Given the description of an element on the screen output the (x, y) to click on. 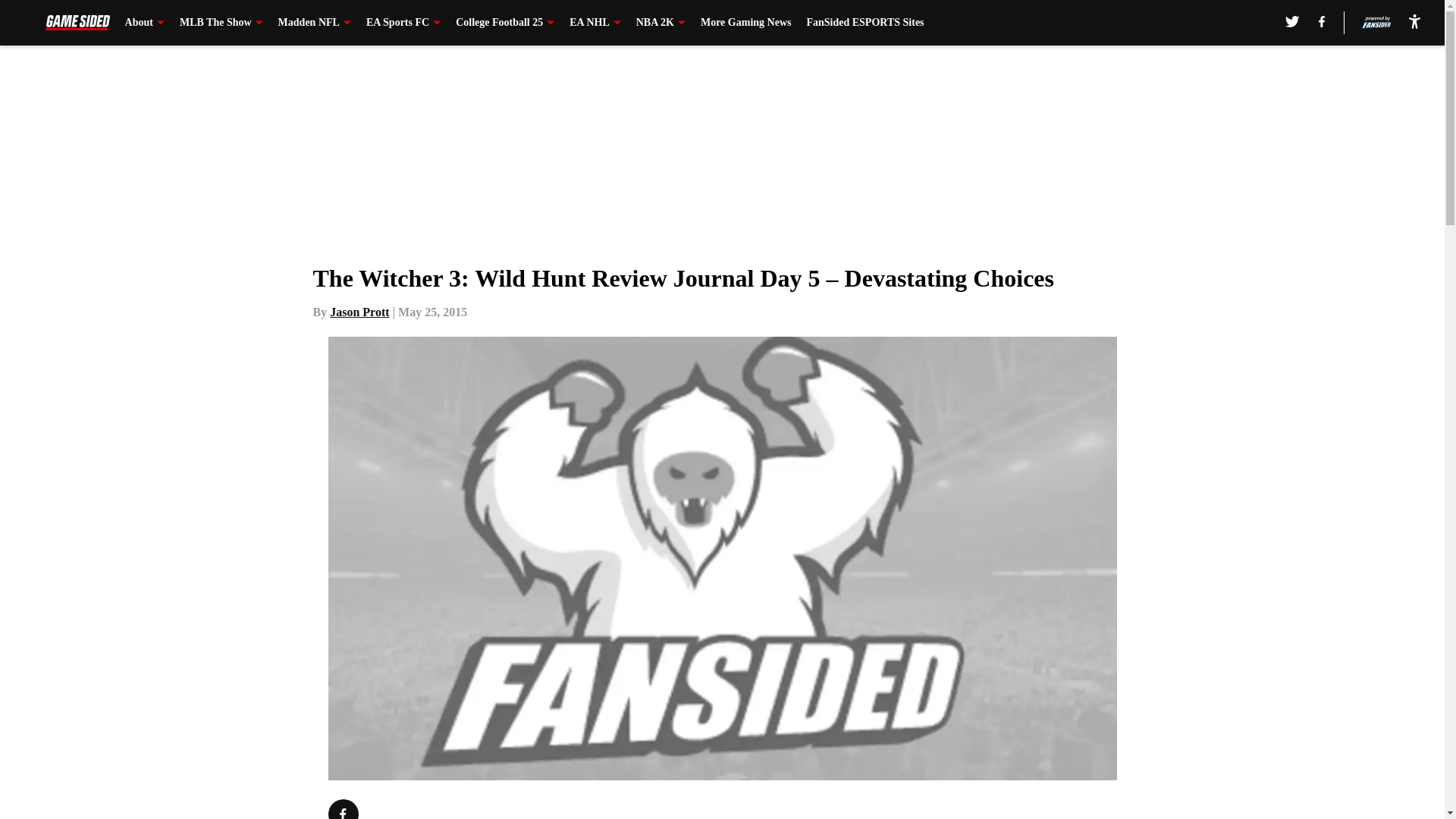
Jason Prott (359, 311)
More Gaming News (746, 22)
FanSided ESPORTS Sites (864, 22)
